Given the description of an element on the screen output the (x, y) to click on. 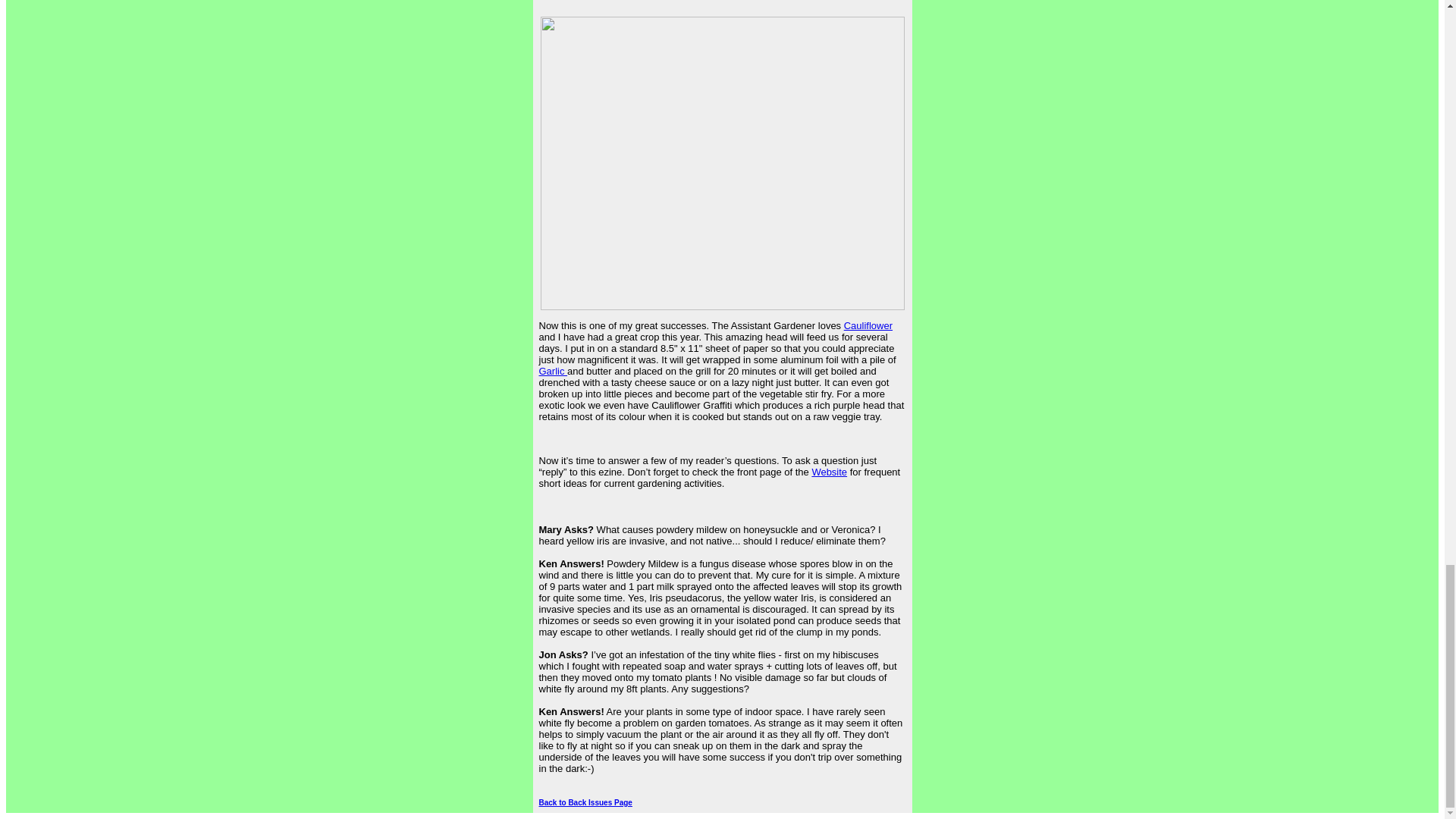
Back to Back Issues Page (584, 802)
Cauliflower (868, 325)
Garlic (552, 370)
Website (828, 471)
